Given the description of an element on the screen output the (x, y) to click on. 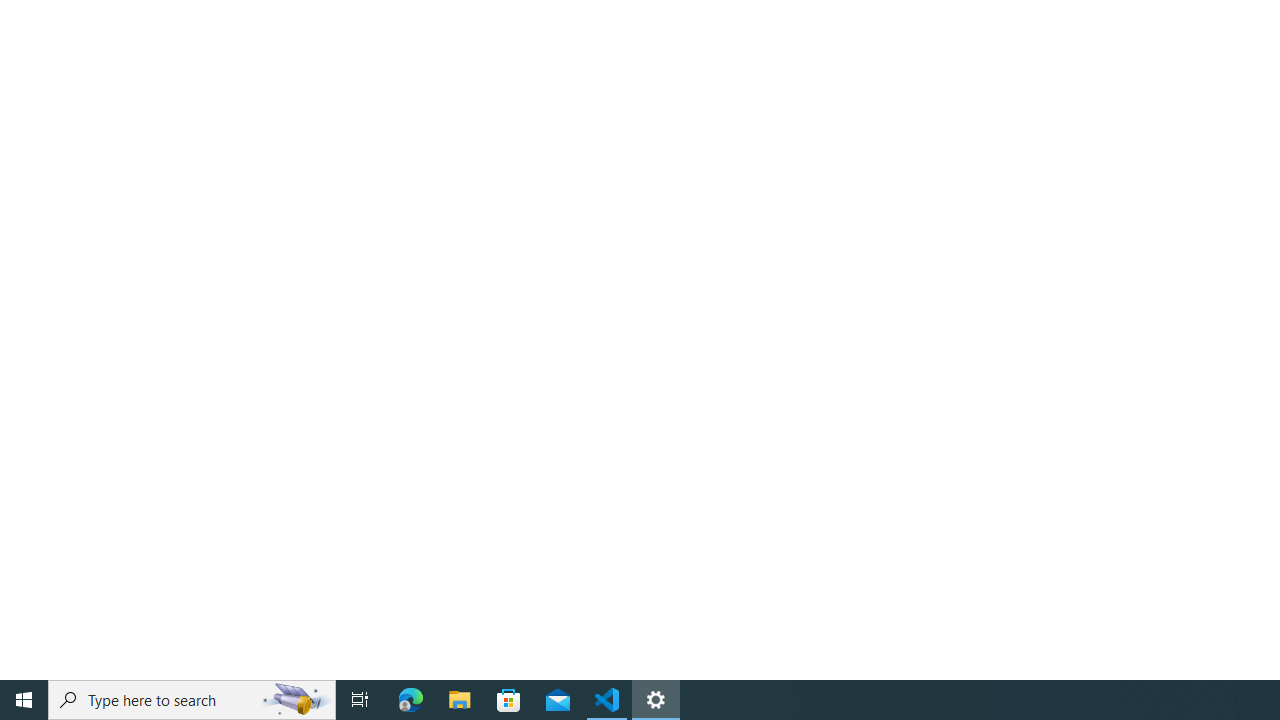
Settings - 1 running window (656, 699)
